Given the description of an element on the screen output the (x, y) to click on. 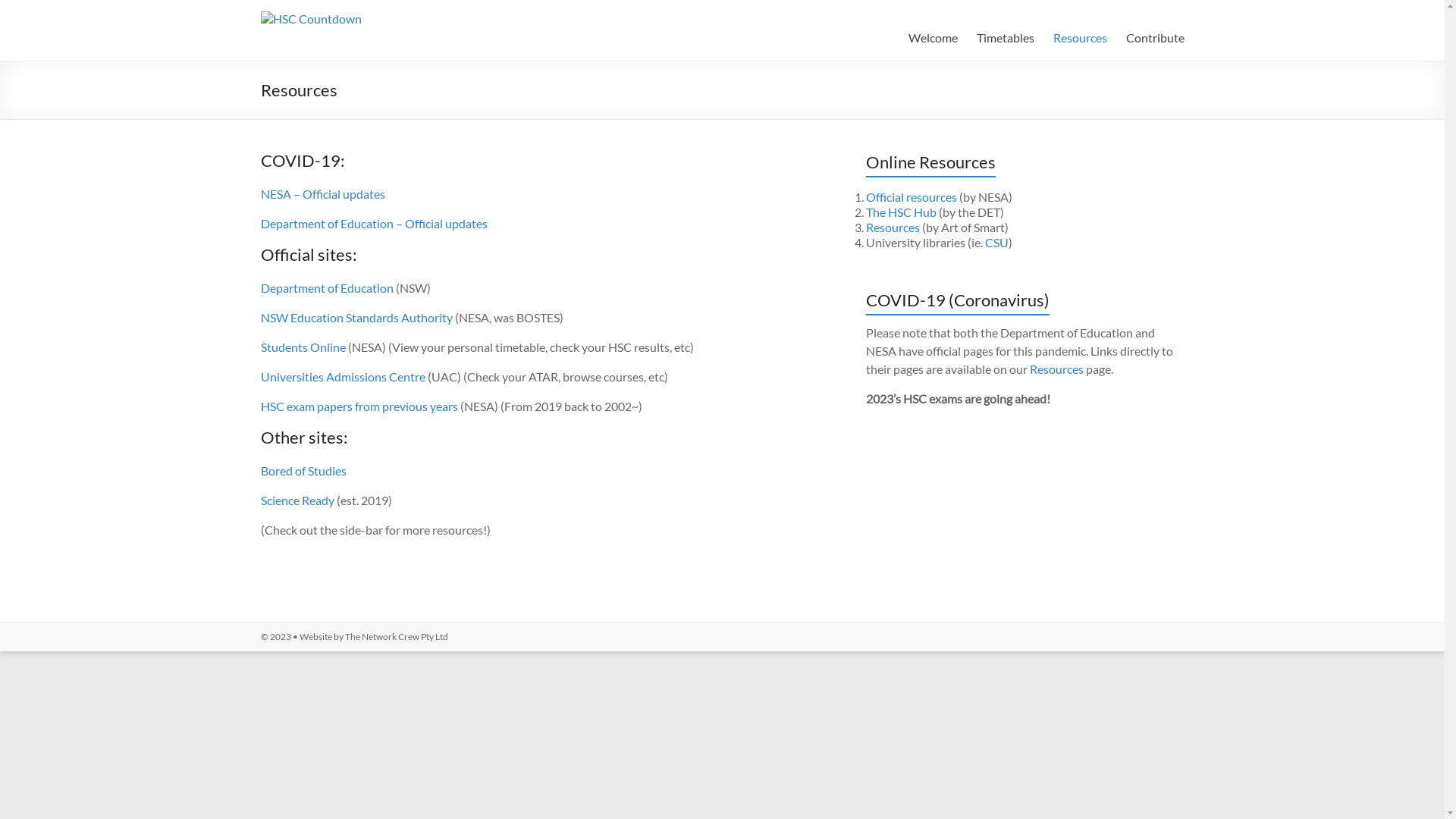
Students Online Element type: text (302, 346)
CSU Element type: text (995, 242)
Universities Admissions Centre Element type: text (342, 376)
Resources Element type: text (892, 226)
The Network Crew Pty Ltd Element type: text (395, 636)
NSW Education Standards Authority Element type: text (356, 317)
Resources Element type: text (1056, 368)
HSC Countdown Element type: text (329, 46)
Timetables Element type: text (1005, 37)
Bored of Studies Element type: text (303, 470)
The HSC Hub Element type: text (901, 211)
Science Ready Element type: text (297, 499)
Department of Education Element type: text (326, 287)
Welcome Element type: text (932, 37)
HSC exam papers from previous years Element type: text (359, 405)
Official resources Element type: text (911, 196)
Contribute Element type: text (1154, 37)
Resources Element type: text (1079, 37)
